Given the description of an element on the screen output the (x, y) to click on. 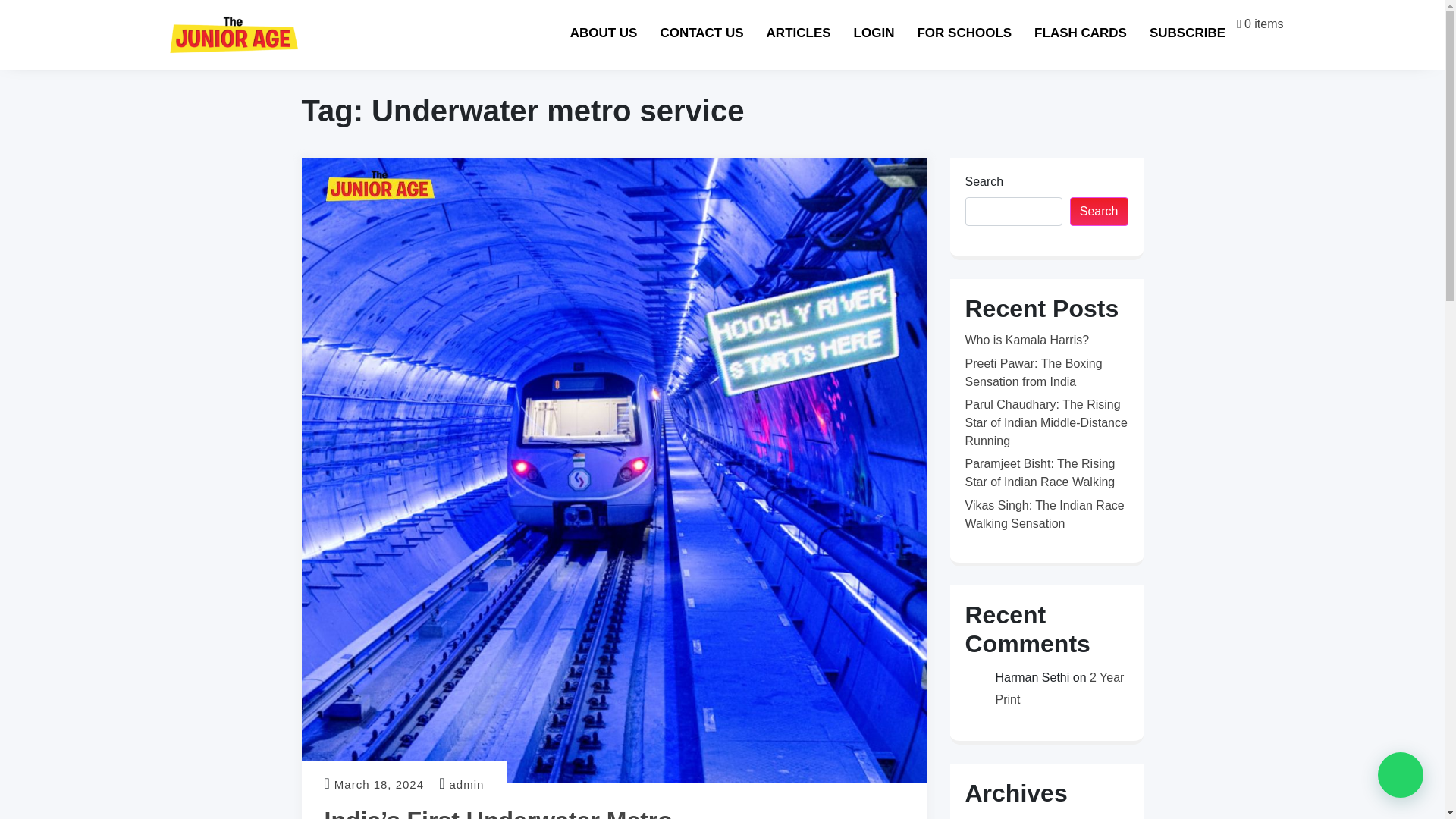
Who is Kamala Harris? (1026, 339)
Preeti Pawar: The Boxing Sensation from India (1032, 372)
Vikas Singh: The Indian Race Walking Sensation (1043, 513)
2 Year Print (1059, 687)
admin (466, 784)
Paramjeet Bisht: The Rising Star of Indian Race Walking (1039, 472)
Start shopping (1259, 23)
0 items (1240, 24)
LOGIN (885, 30)
March 18, 2024 (378, 784)
ABOUT US (602, 32)
FLASH CARDS (1092, 31)
CONTACT US (696, 31)
FOR SCHOOLS (980, 31)
